Given the description of an element on the screen output the (x, y) to click on. 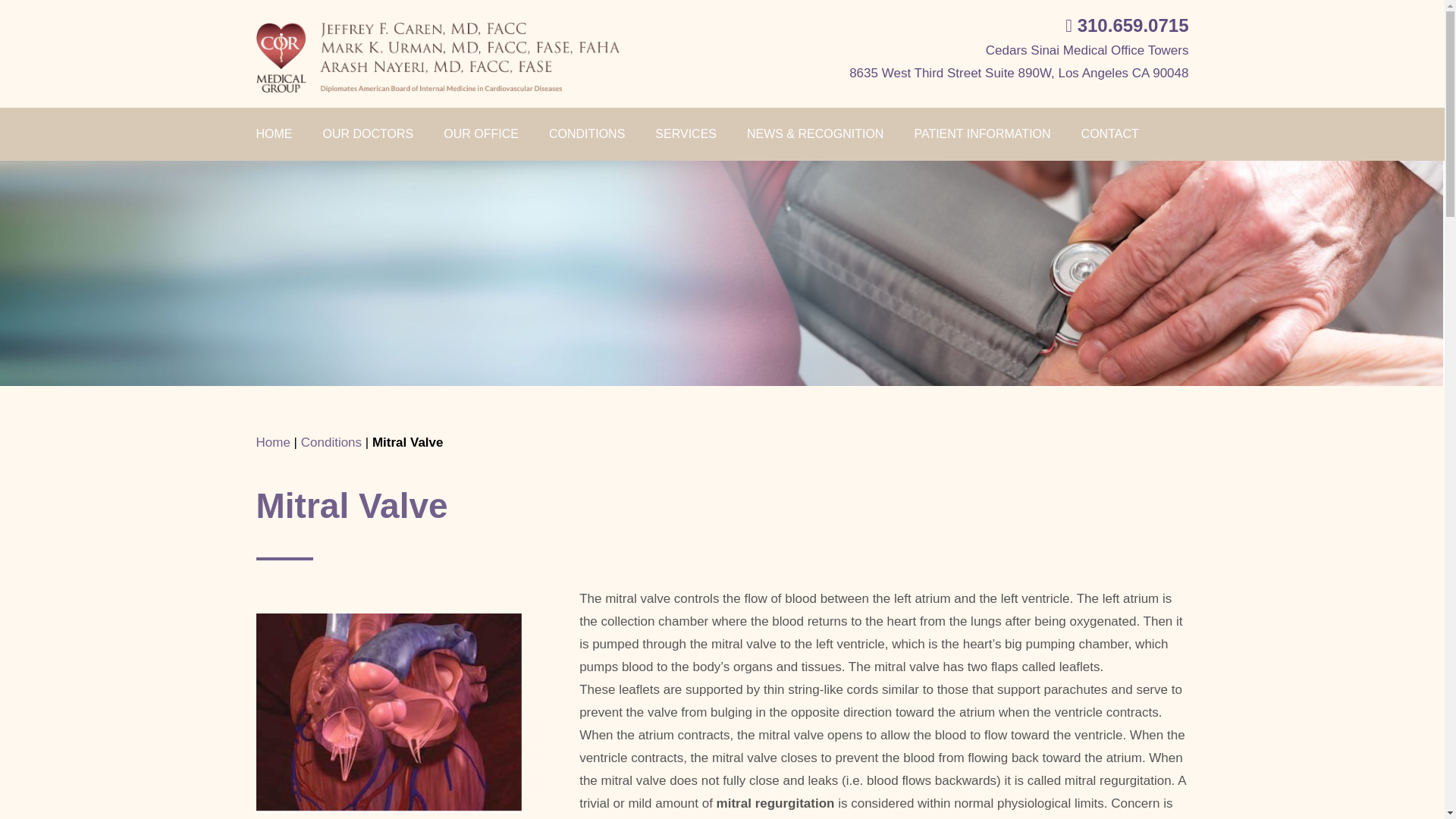
OUR DOCTORS (368, 133)
310.659.0715 (1126, 25)
CONDITIONS (587, 133)
OUR OFFICE (481, 133)
HOME (281, 133)
